Given the description of an element on the screen output the (x, y) to click on. 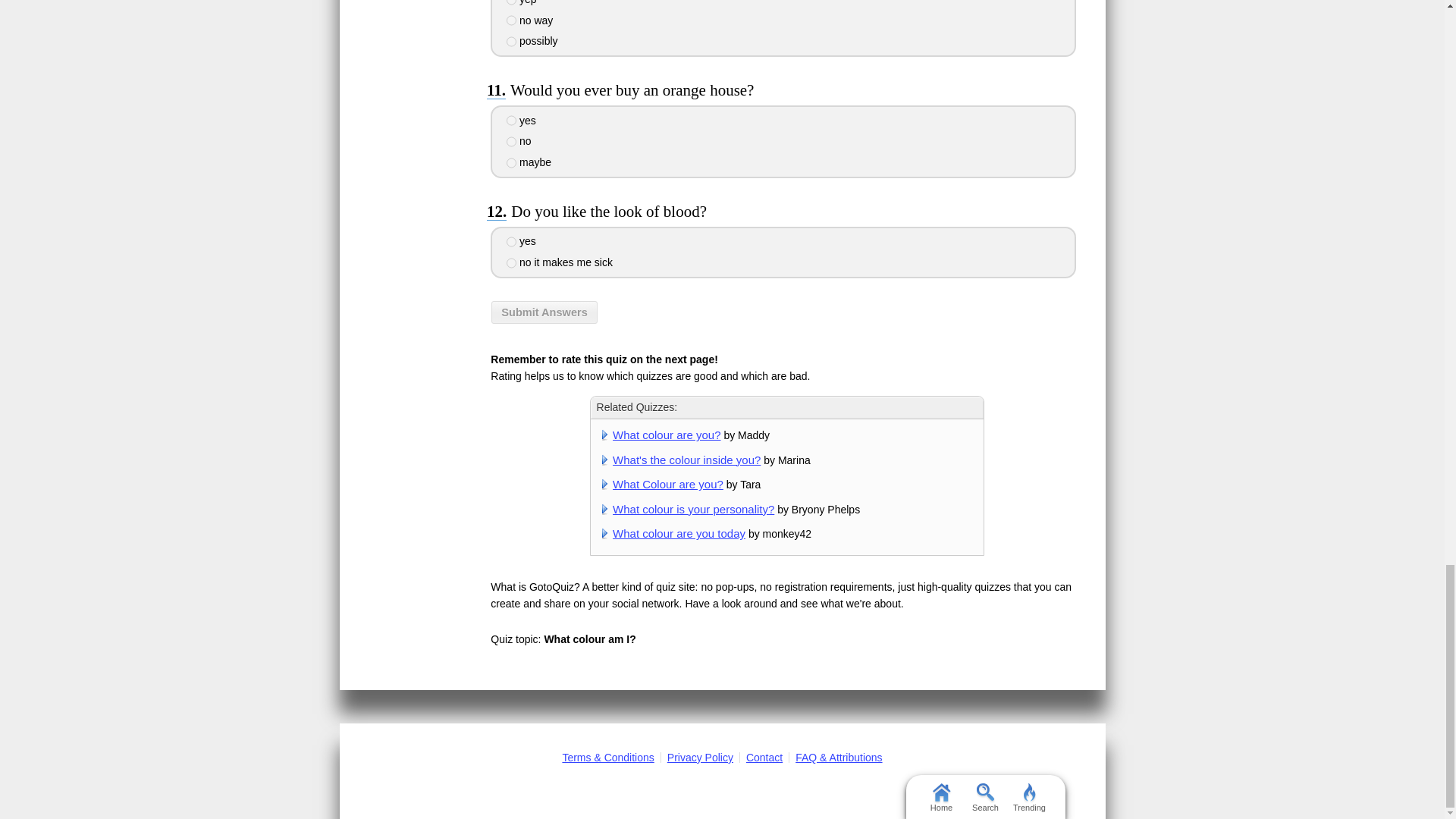
Contact (764, 757)
Privacy Policy (699, 757)
What colour are you? (666, 434)
What's the colour inside you? (686, 459)
What Colour are you? (667, 483)
What colour are you today (678, 533)
What colour is your personality? (693, 508)
Submit Answers (544, 312)
